Given the description of an element on the screen output the (x, y) to click on. 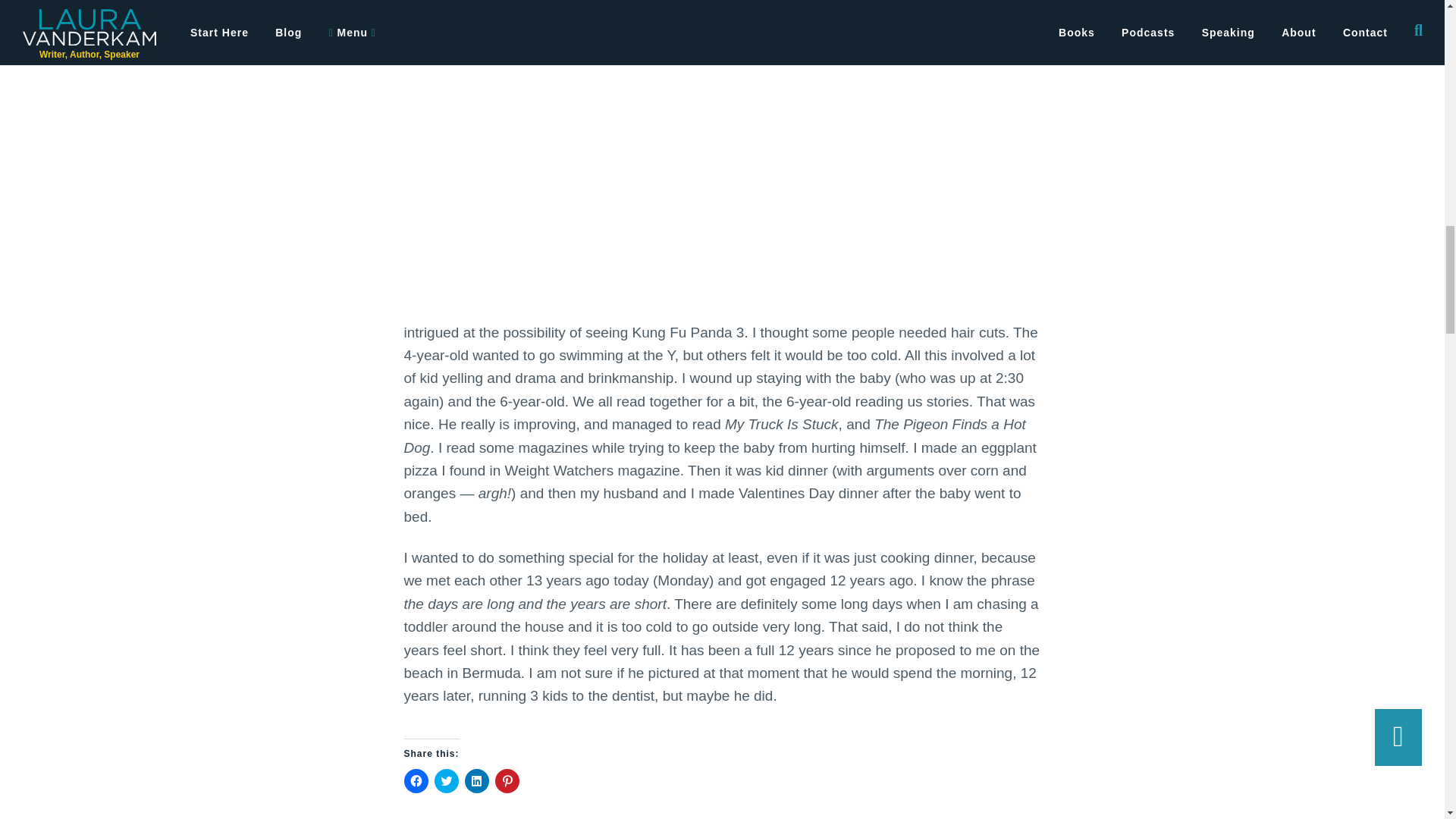
Click to share on Pinterest (506, 781)
Click to share on Facebook (415, 781)
Click to share on LinkedIn (475, 781)
Click to share on Twitter (445, 781)
